Given the description of an element on the screen output the (x, y) to click on. 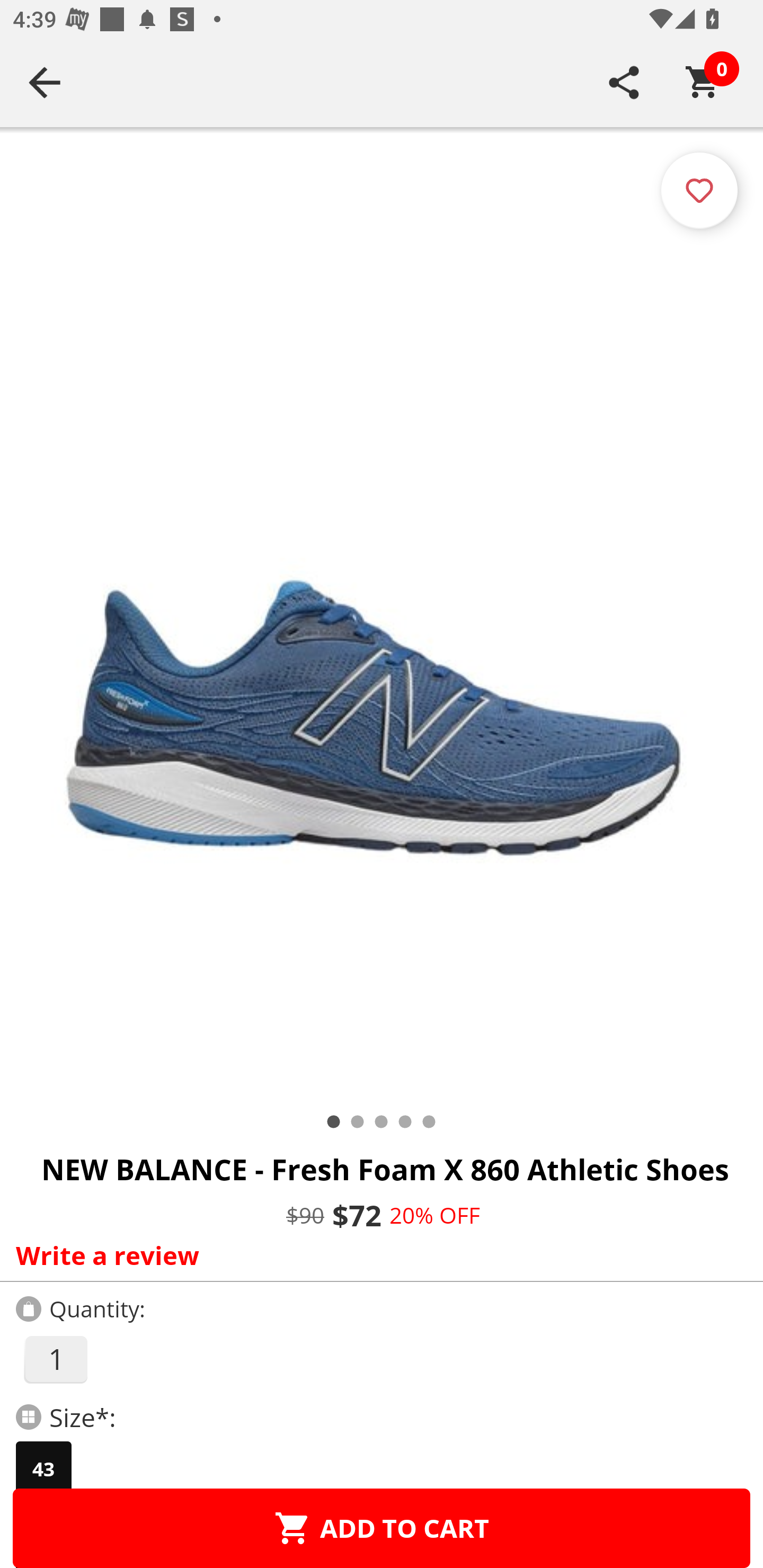
Navigate up (44, 82)
SHARE (623, 82)
Cart (703, 81)
Write a review (377, 1255)
1 (55, 1358)
43 (43, 1468)
ADD TO CART (381, 1528)
